Given the description of an element on the screen output the (x, y) to click on. 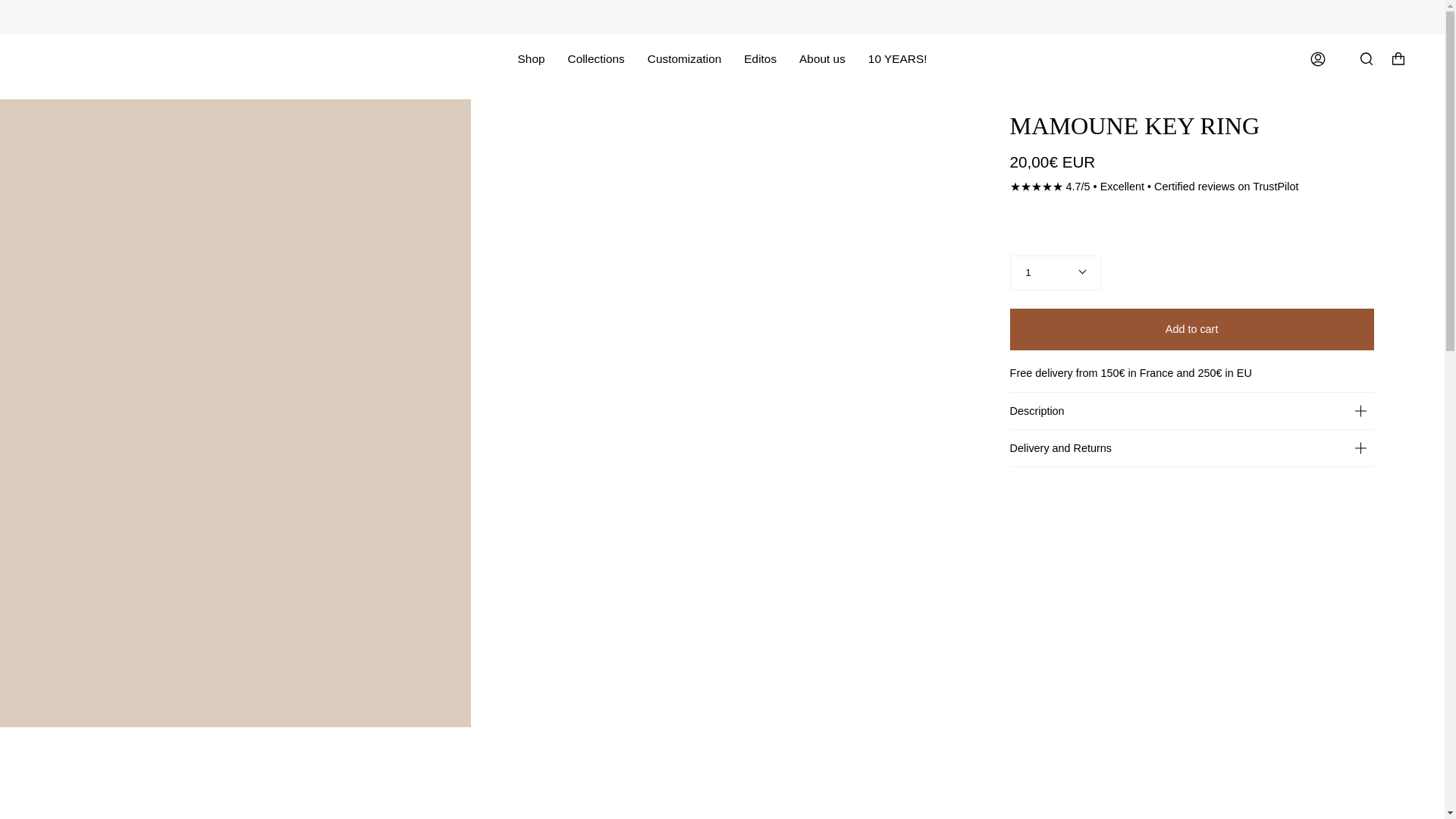
Shop (531, 58)
